Given the description of an element on the screen output the (x, y) to click on. 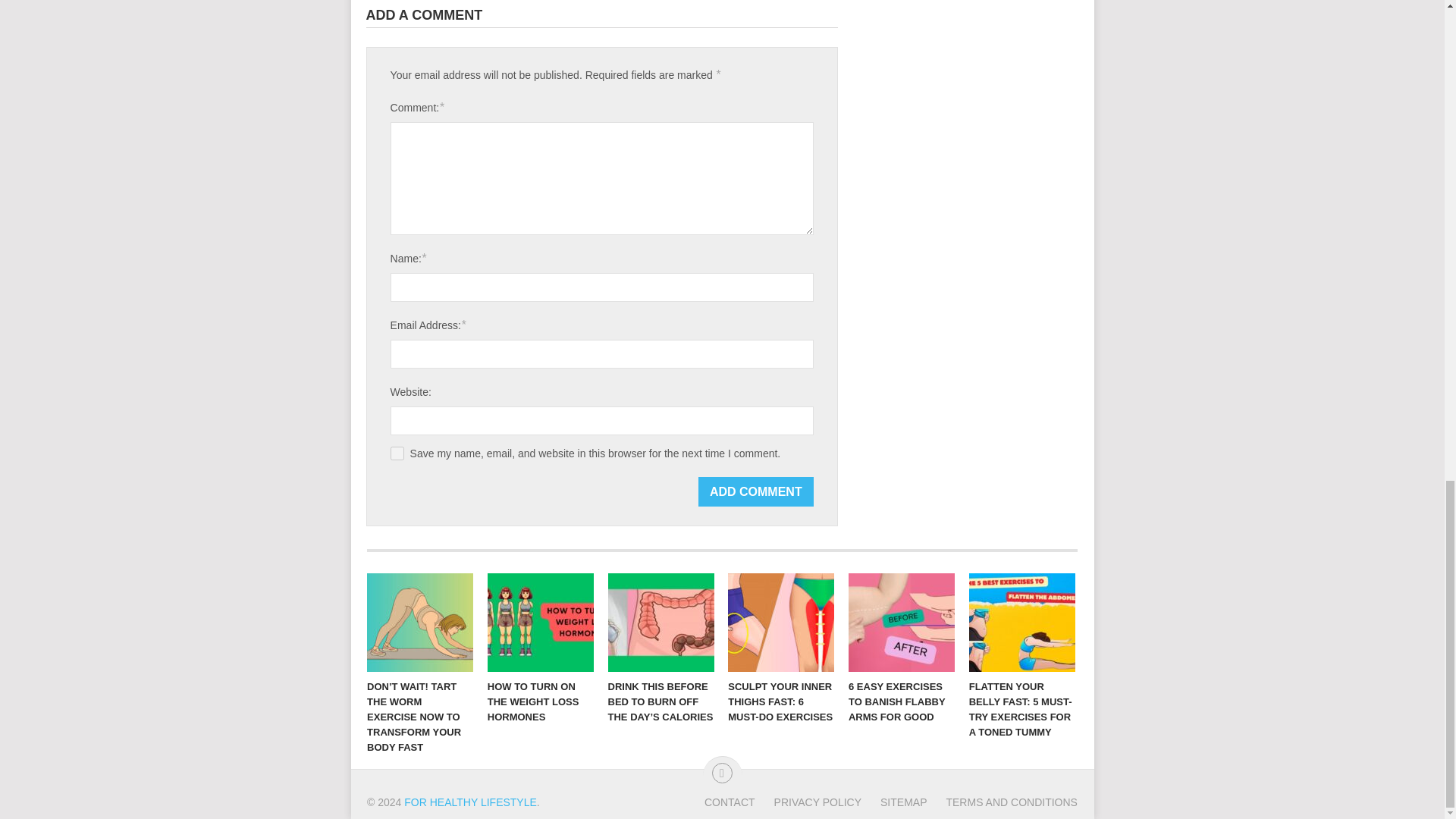
Sculpt Your Inner Thighs Fast: 6 Must-Do Exercises (781, 622)
Add Comment (755, 491)
How to Turn On the Weight Loss Hormones (540, 622)
Add Comment (755, 491)
PRIVACY POLICY (808, 802)
6 EASY EXERCISES TO BANISH FLABBY ARMS FOR GOOD (901, 622)
SITEMAP (893, 802)
FOR HEALTHY LIFESTYLE (470, 802)
HOW TO TURN ON THE WEIGHT LOSS HORMONES (540, 622)
